Given the description of an element on the screen output the (x, y) to click on. 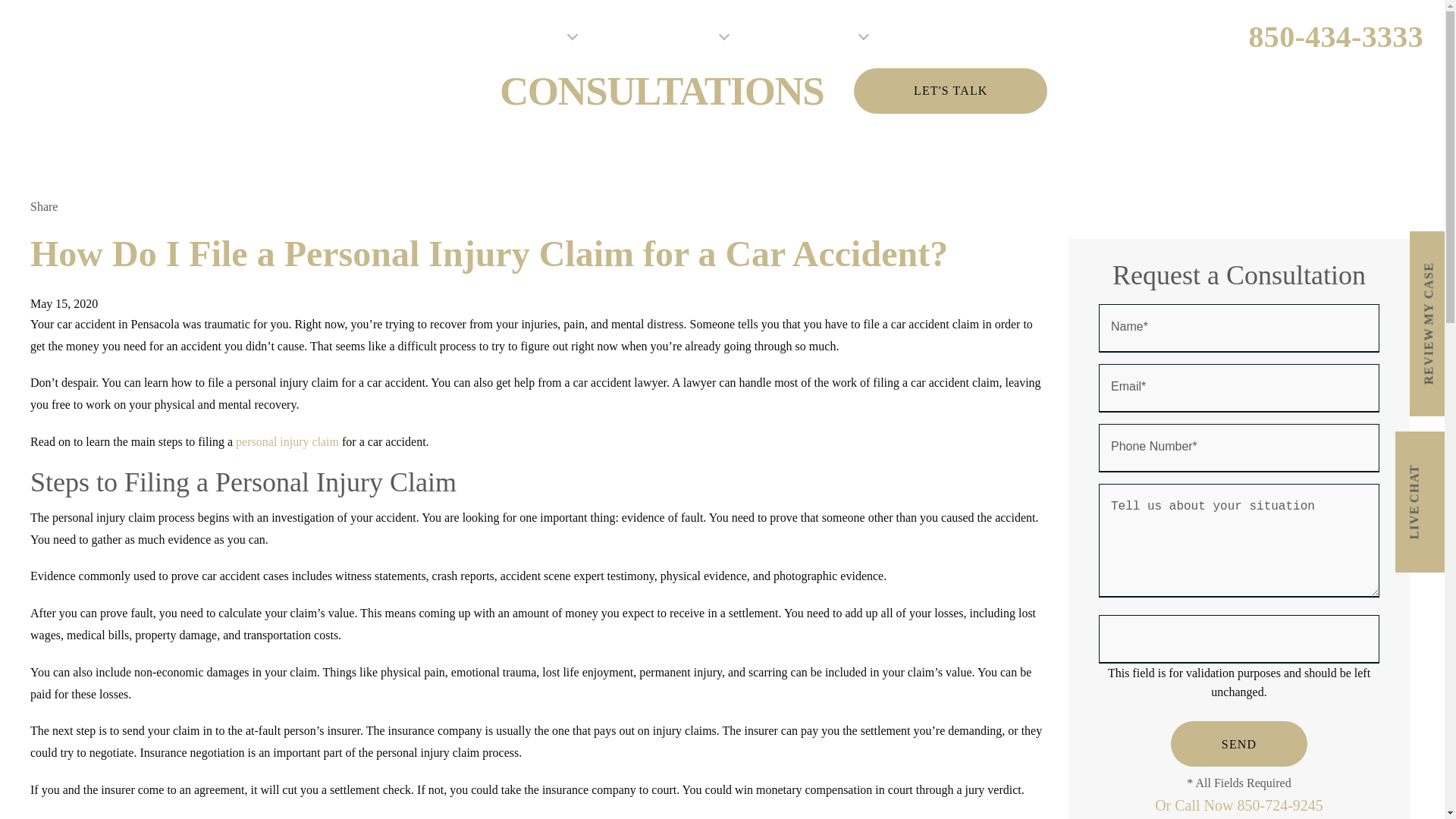
REVIEWS (931, 37)
PRACTICE AREAS (662, 37)
AREAS SERVED (808, 37)
personal injury claim (287, 440)
LET'S TALK (949, 90)
ABOUT (540, 37)
Send (1238, 743)
HOME (450, 37)
CONTACT (1120, 37)
